Given the description of an element on the screen output the (x, y) to click on. 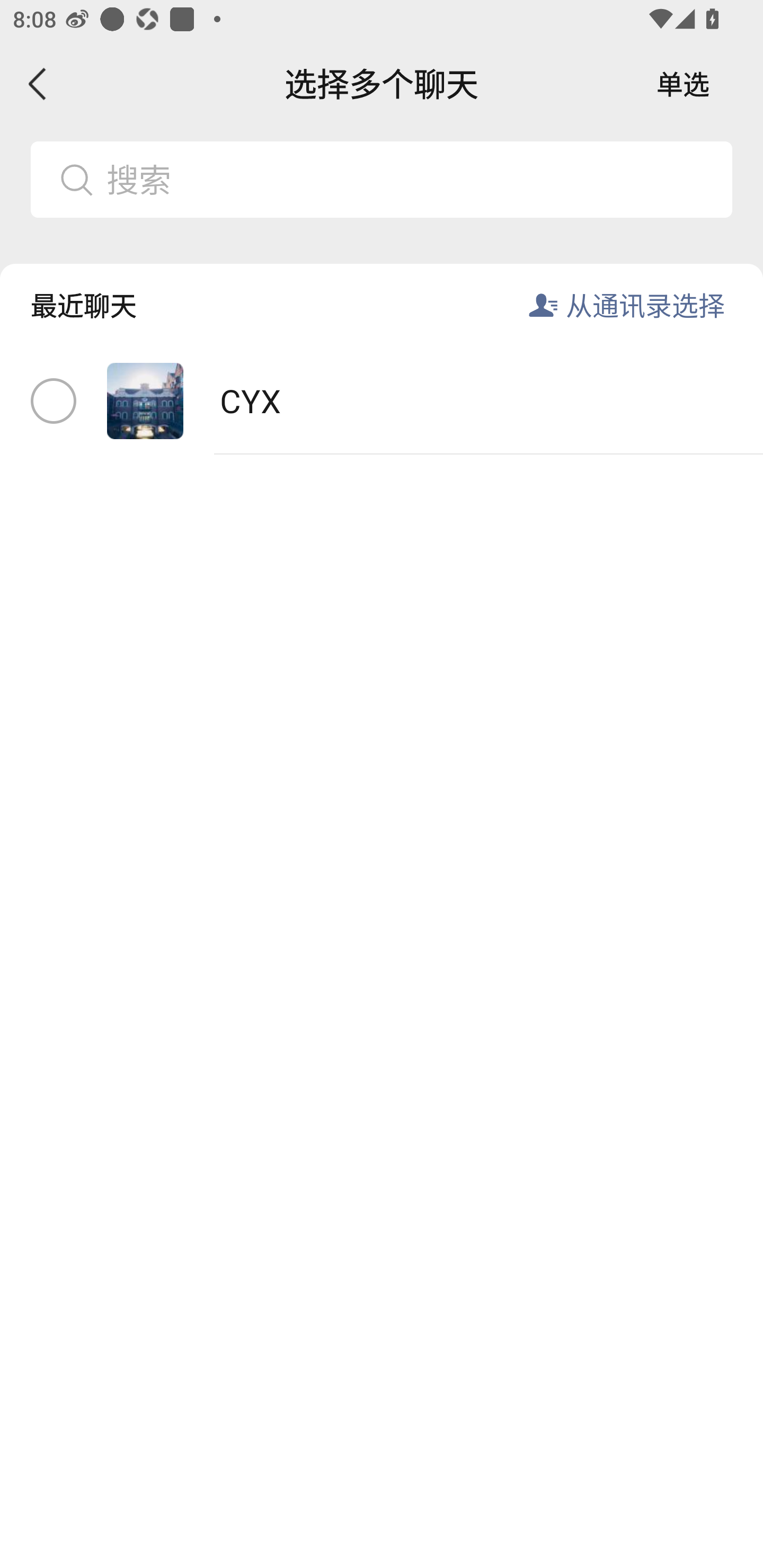
返回 (38, 83)
单选 (683, 83)
搜索 (381, 179)
搜索 (411, 179)
从通讯录选择 (645, 304)
CYX (381, 401)
